Given the description of an element on the screen output the (x, y) to click on. 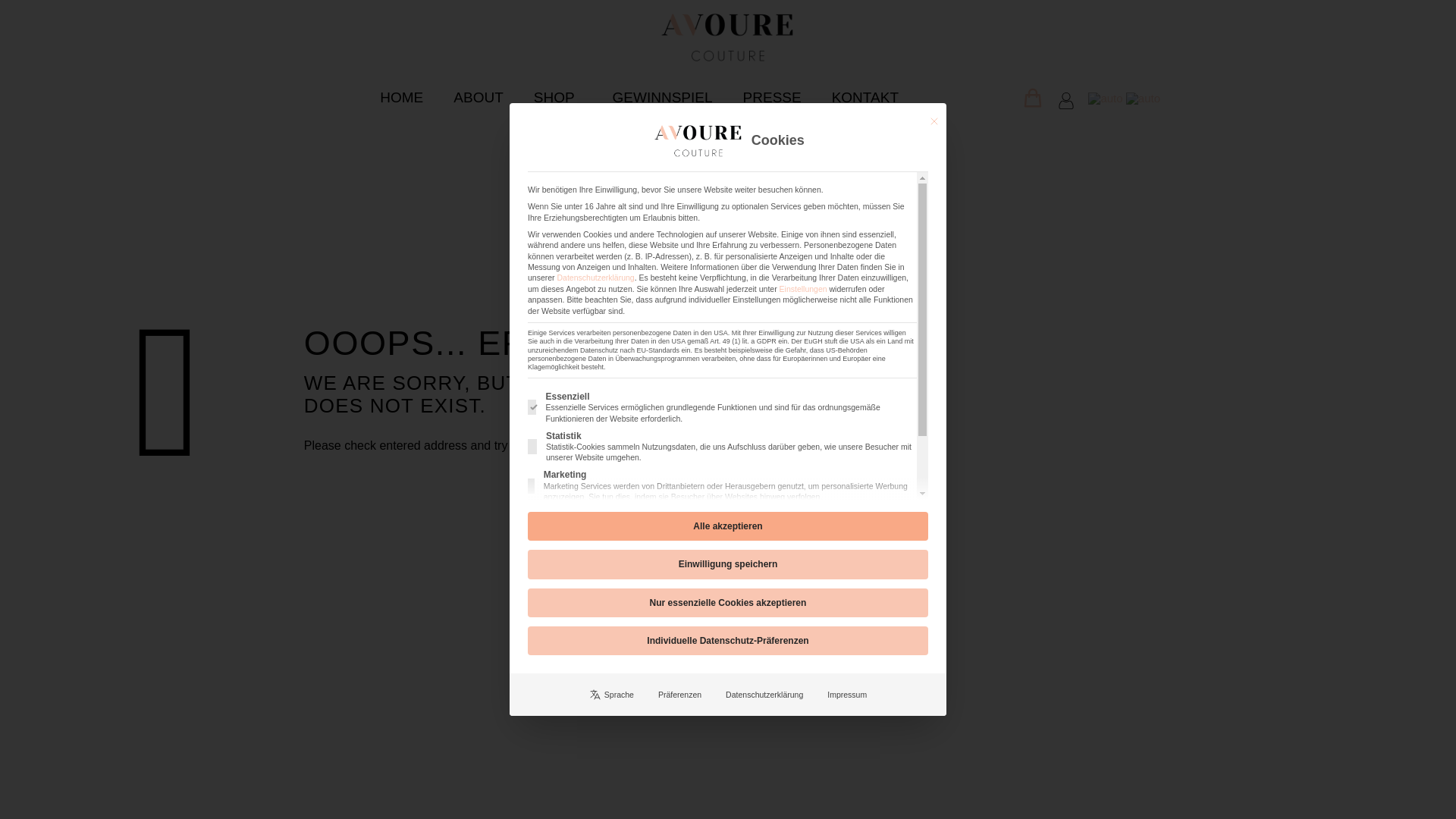
PRESSE (772, 97)
KONTAKT (865, 97)
SHOP (557, 97)
on (531, 406)
on (532, 446)
on (530, 485)
GEWINNSPIEL (662, 97)
ABOUT (478, 97)
HOME (401, 97)
on (529, 530)
